Given the description of an element on the screen output the (x, y) to click on. 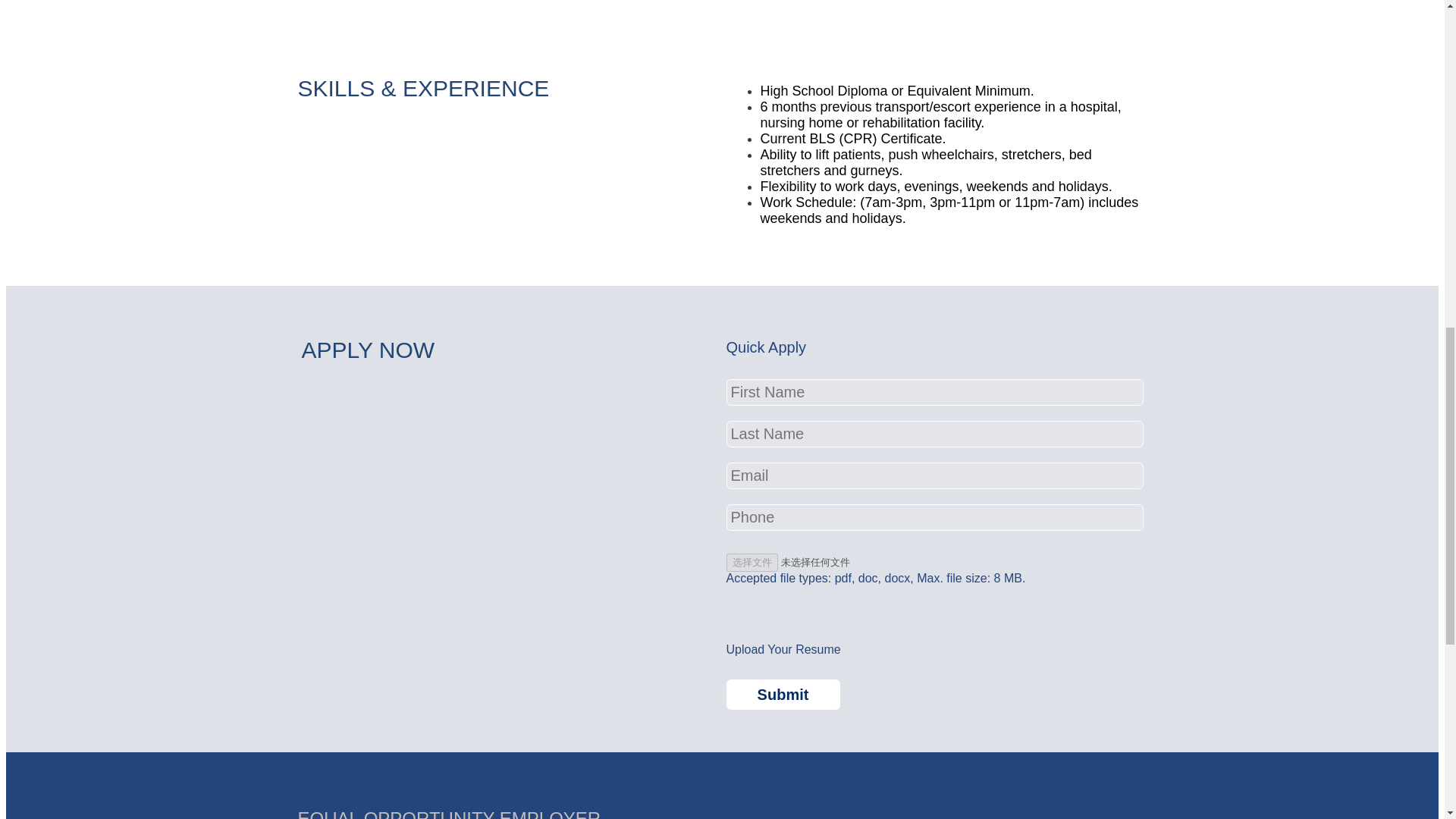
Submit (783, 694)
